Given the description of an element on the screen output the (x, y) to click on. 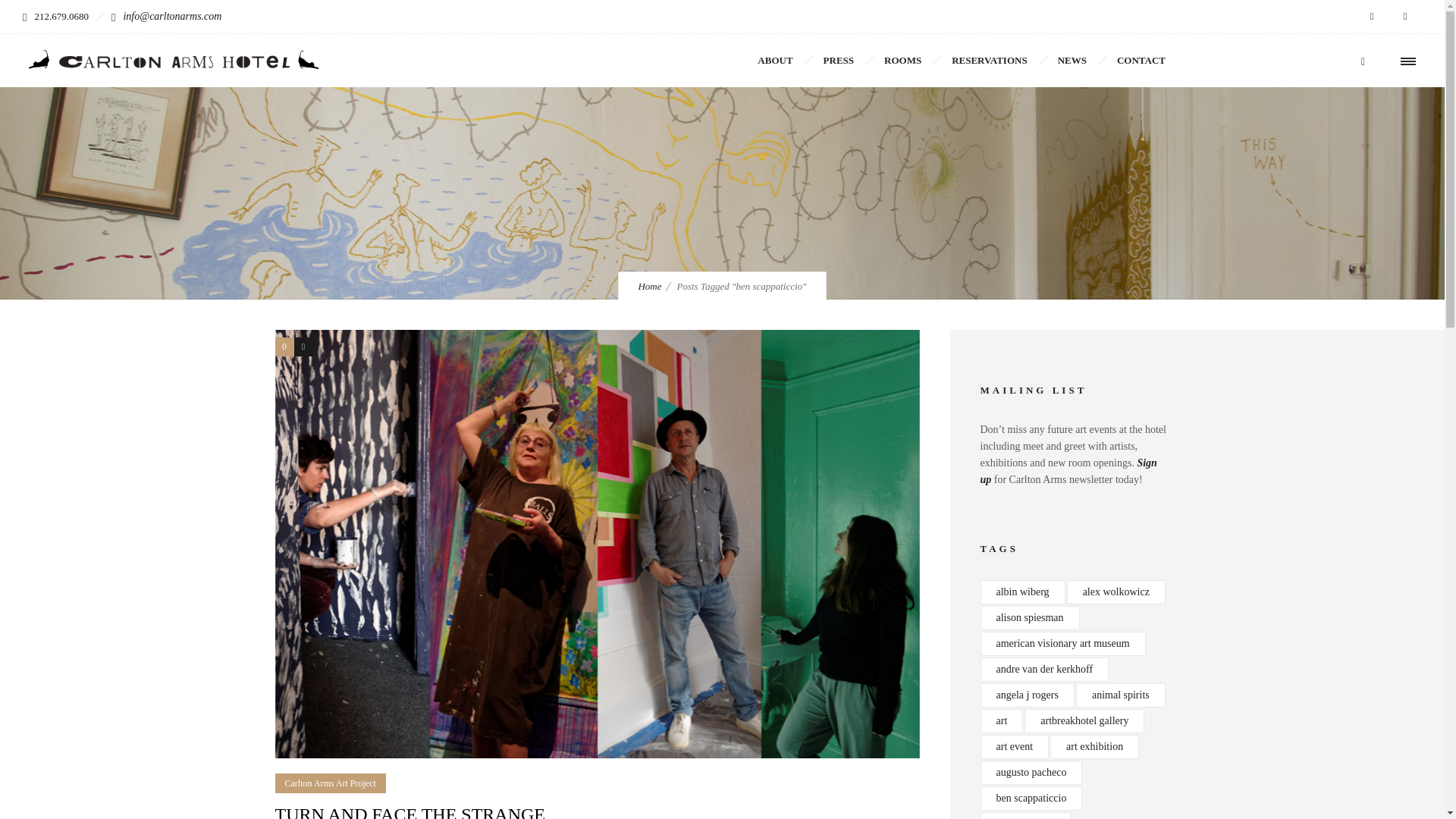
Instagram (1405, 16)
0 (284, 346)
NEWS (1072, 60)
ABOUT (775, 60)
RESERVATIONS (989, 60)
ROOMS (902, 60)
Facebook (1372, 16)
CONTACT (1141, 60)
PRESS (838, 60)
212.679.0680 (60, 16)
Carlton Arms Art Project (330, 783)
TURN AND FACE THE STRANGE (409, 811)
Home (649, 285)
